Given the description of an element on the screen output the (x, y) to click on. 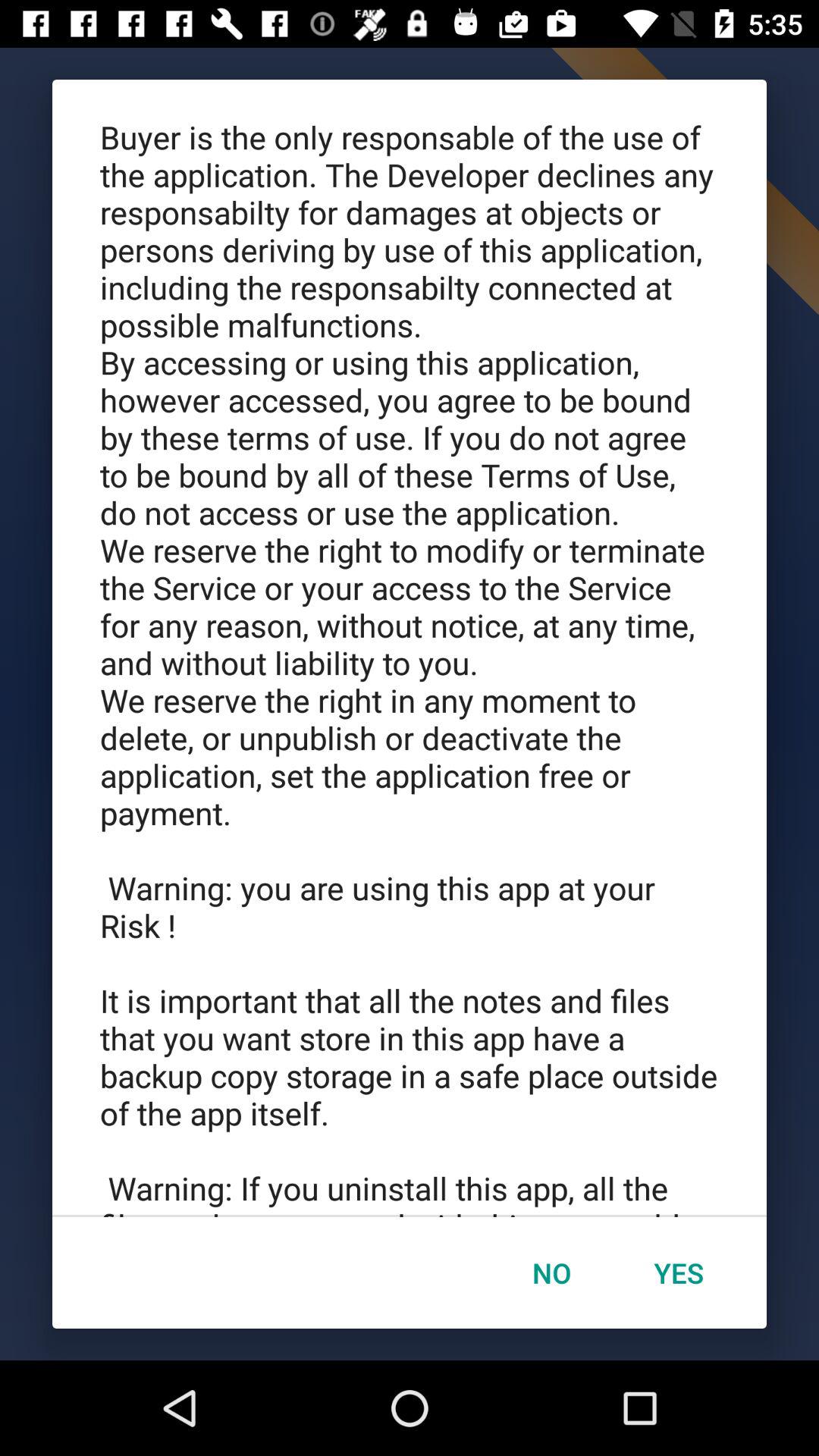
tap the item below buyer is the app (551, 1272)
